Given the description of an element on the screen output the (x, y) to click on. 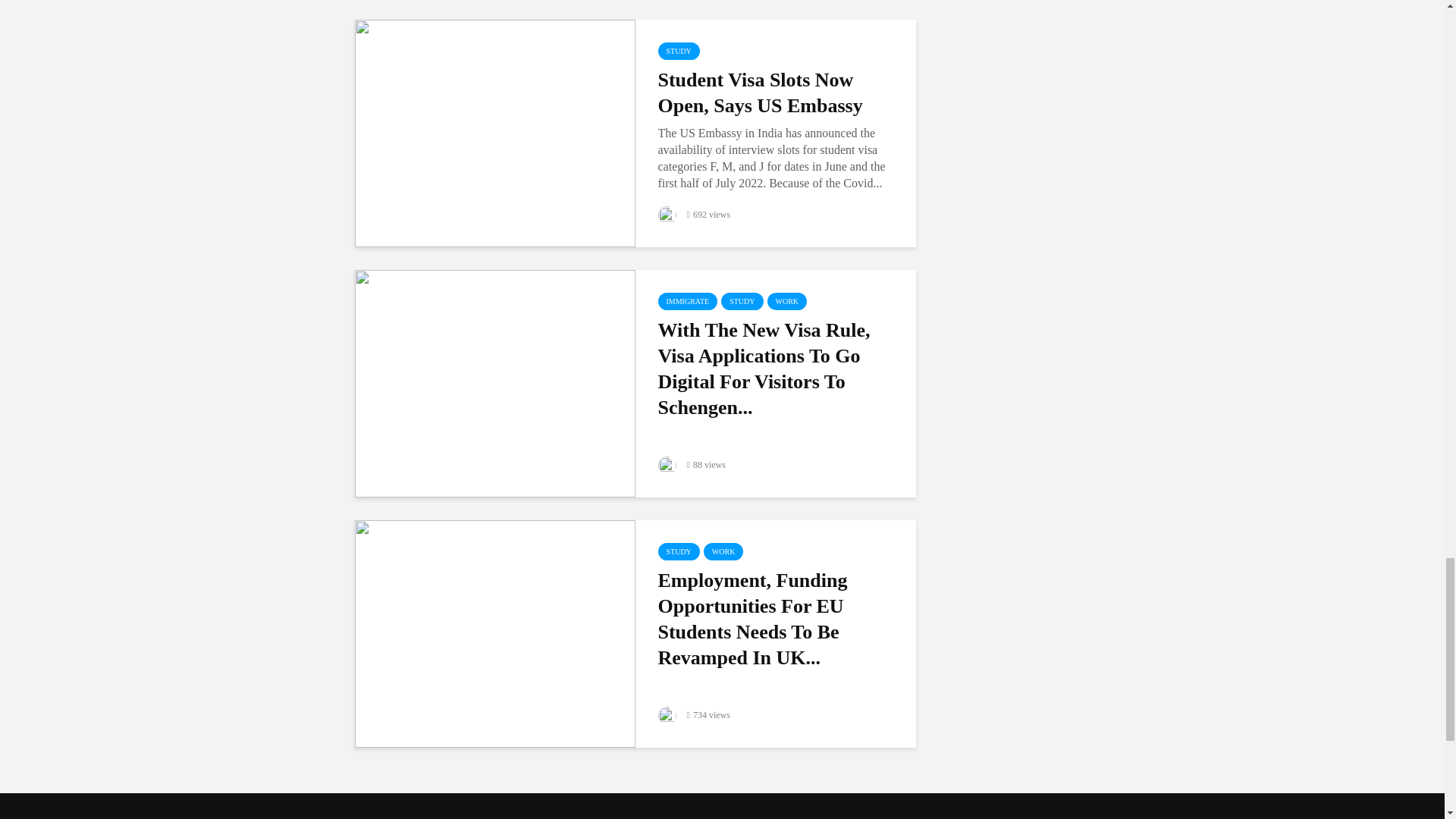
WORK (787, 301)
STUDY (679, 50)
Student Visa Slots Now Open, Says US Embassy (778, 92)
STUDY (741, 301)
Student Visa Slots Now Open, Says US Embassy (494, 131)
IMMIGRATE (687, 301)
